Given the description of an element on the screen output the (x, y) to click on. 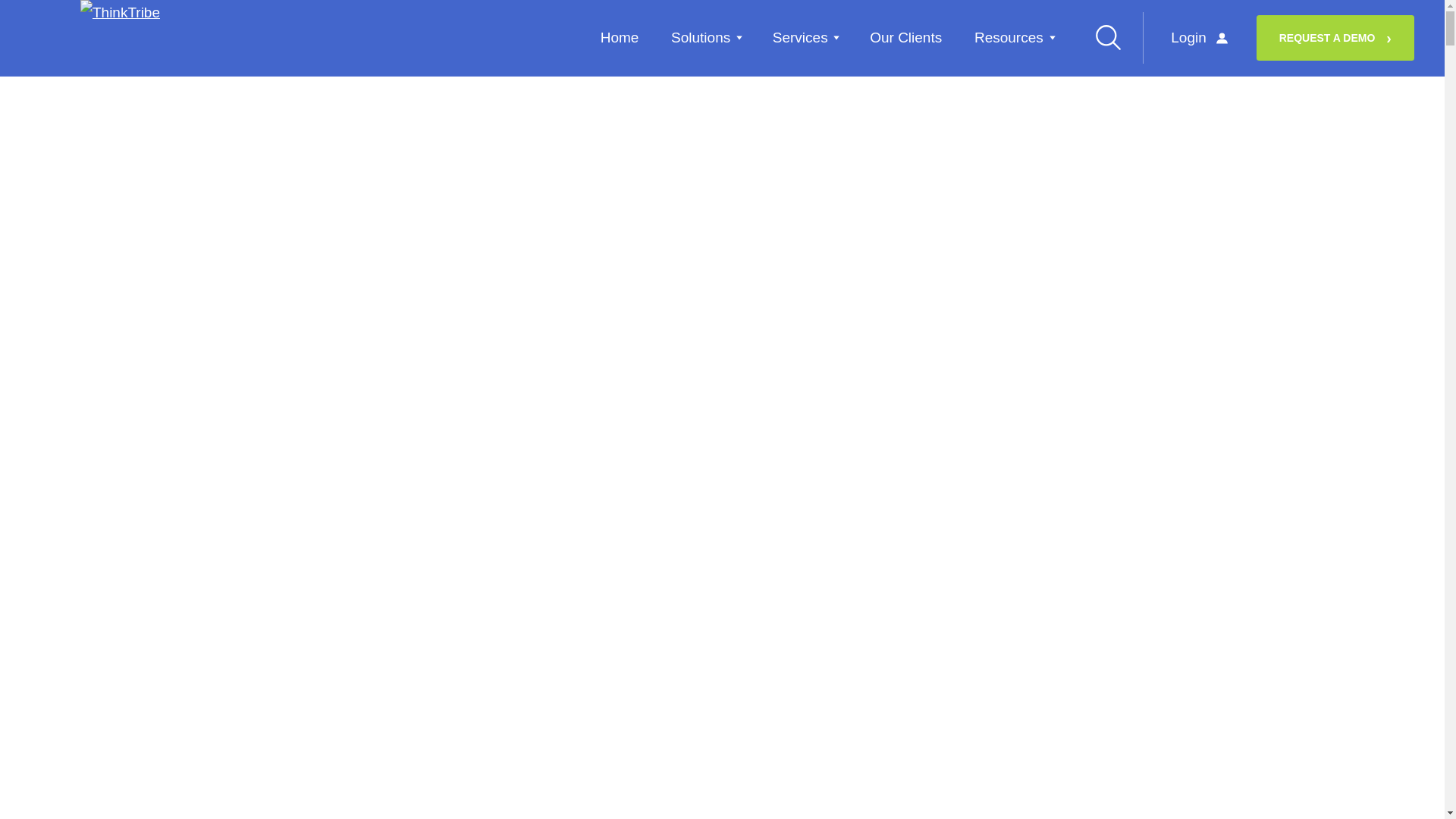
REQUEST A DEMO (1334, 37)
Our Clients (906, 37)
Skip to content (40, 10)
Search (1107, 37)
Home (619, 37)
Login (1199, 38)
Resources (1012, 37)
Solutions (705, 37)
Services (804, 37)
